Given the description of an element on the screen output the (x, y) to click on. 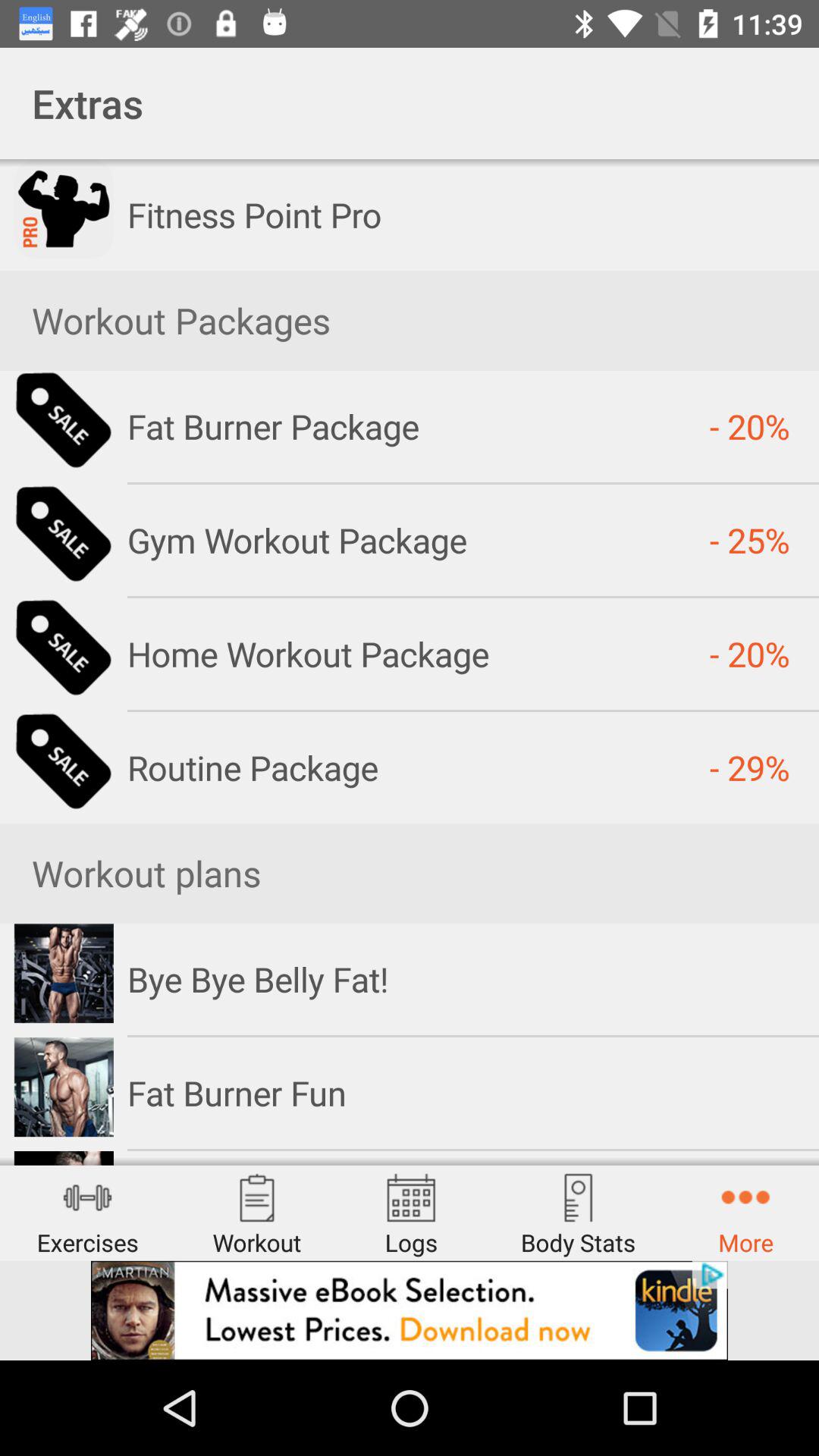
advertisement (409, 1310)
